Given the description of an element on the screen output the (x, y) to click on. 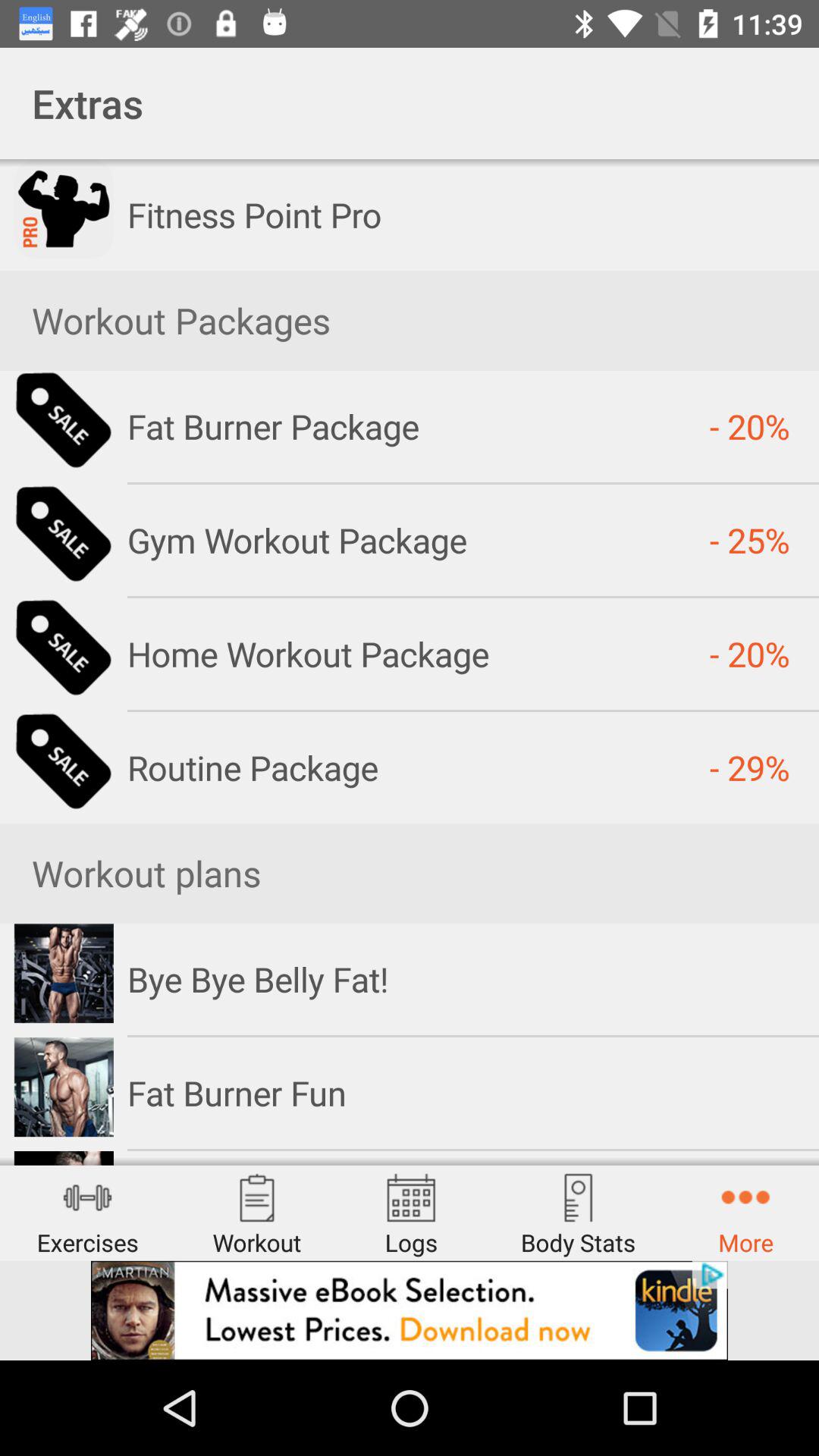
advertisement (409, 1310)
